Given the description of an element on the screen output the (x, y) to click on. 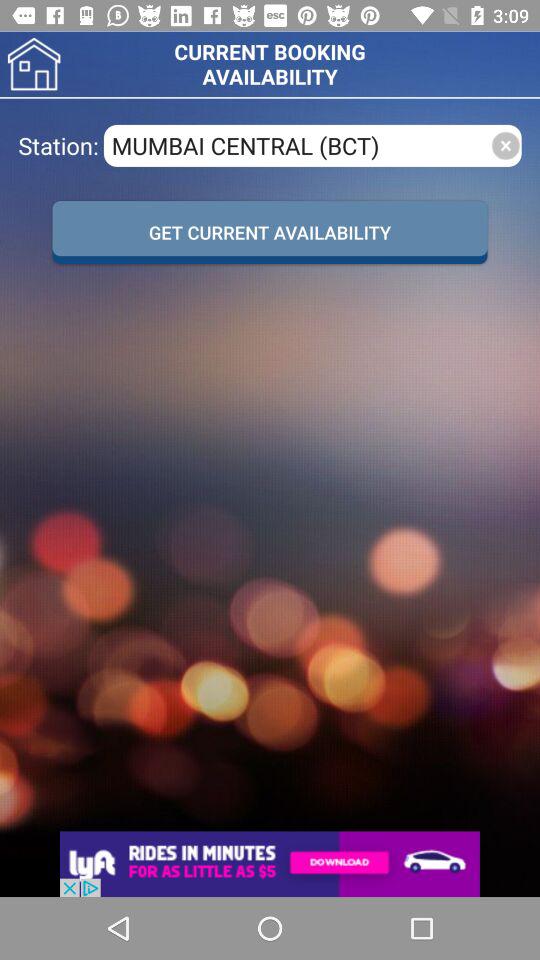
delete the search (505, 145)
